Given the description of an element on the screen output the (x, y) to click on. 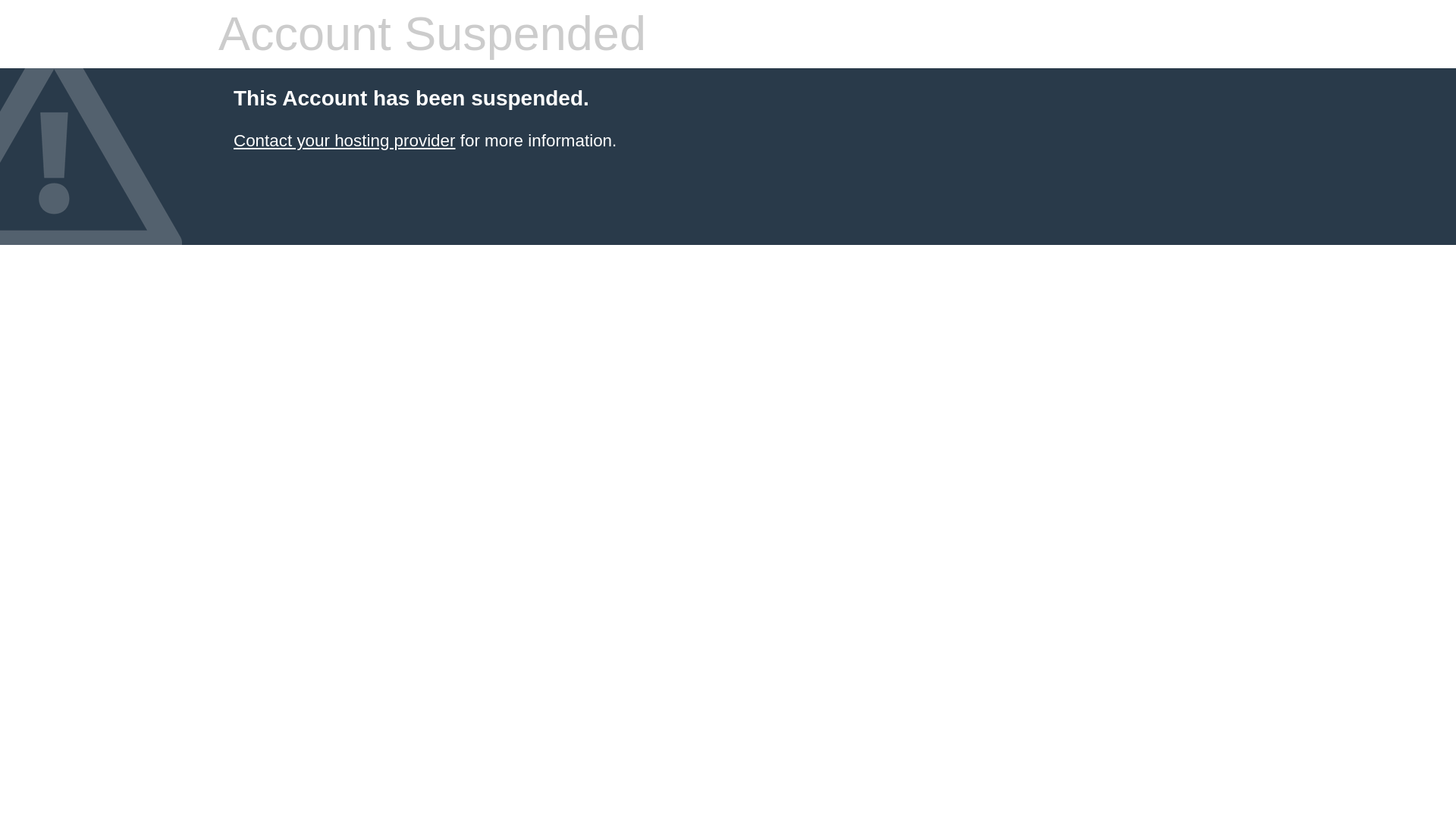
SiteAnts.com (343, 140)
Contact your hosting provider (343, 140)
